Given the description of an element on the screen output the (x, y) to click on. 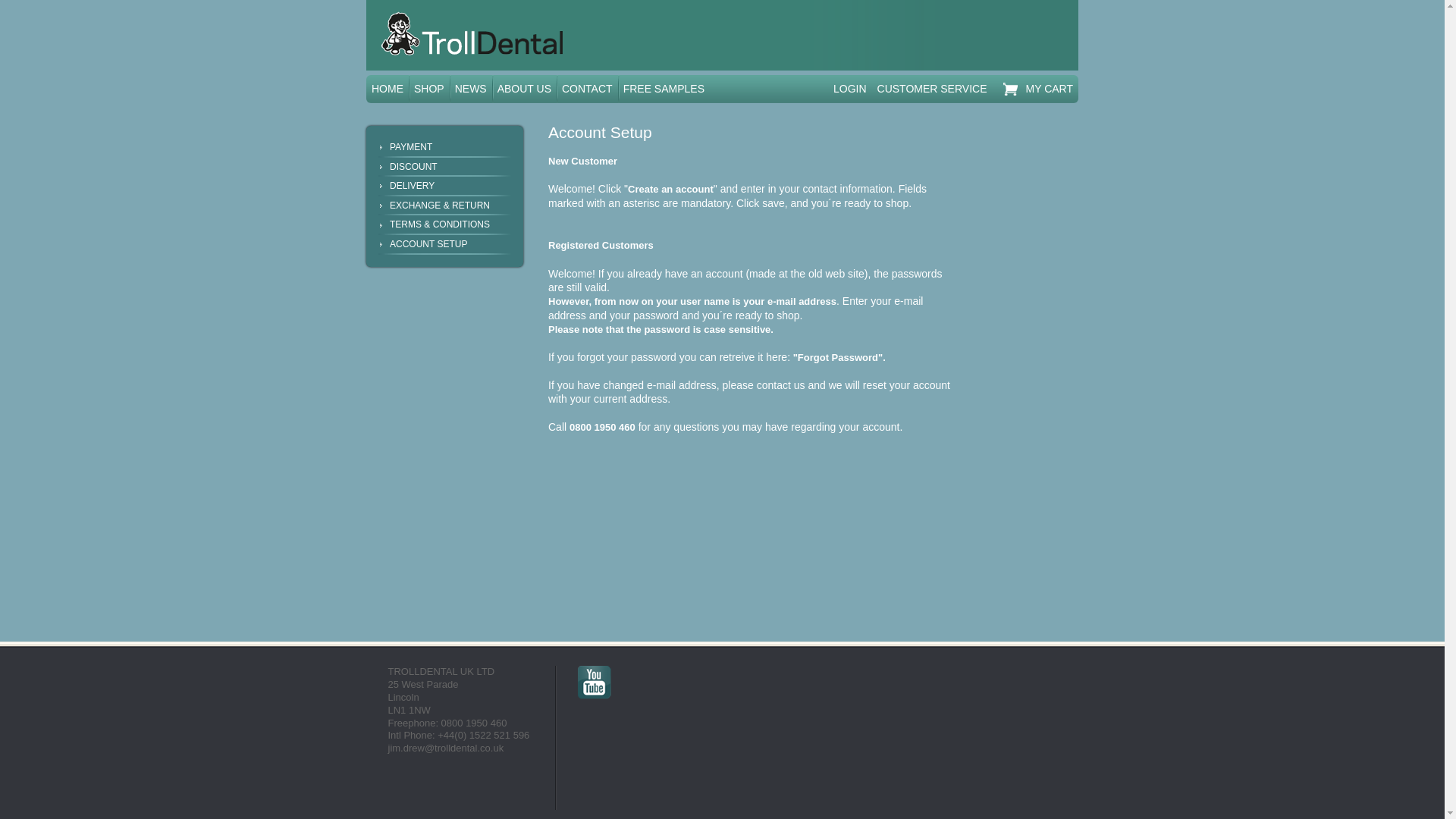
DISCOUNT (450, 167)
LOGIN (850, 89)
HOME (387, 89)
PAYMENT (450, 148)
CUSTOMER SERVICE (932, 89)
MY CART (1034, 89)
SHOP (429, 89)
NEWS (470, 89)
FREE SAMPLES (663, 89)
DELIVERY (450, 186)
